Given the description of an element on the screen output the (x, y) to click on. 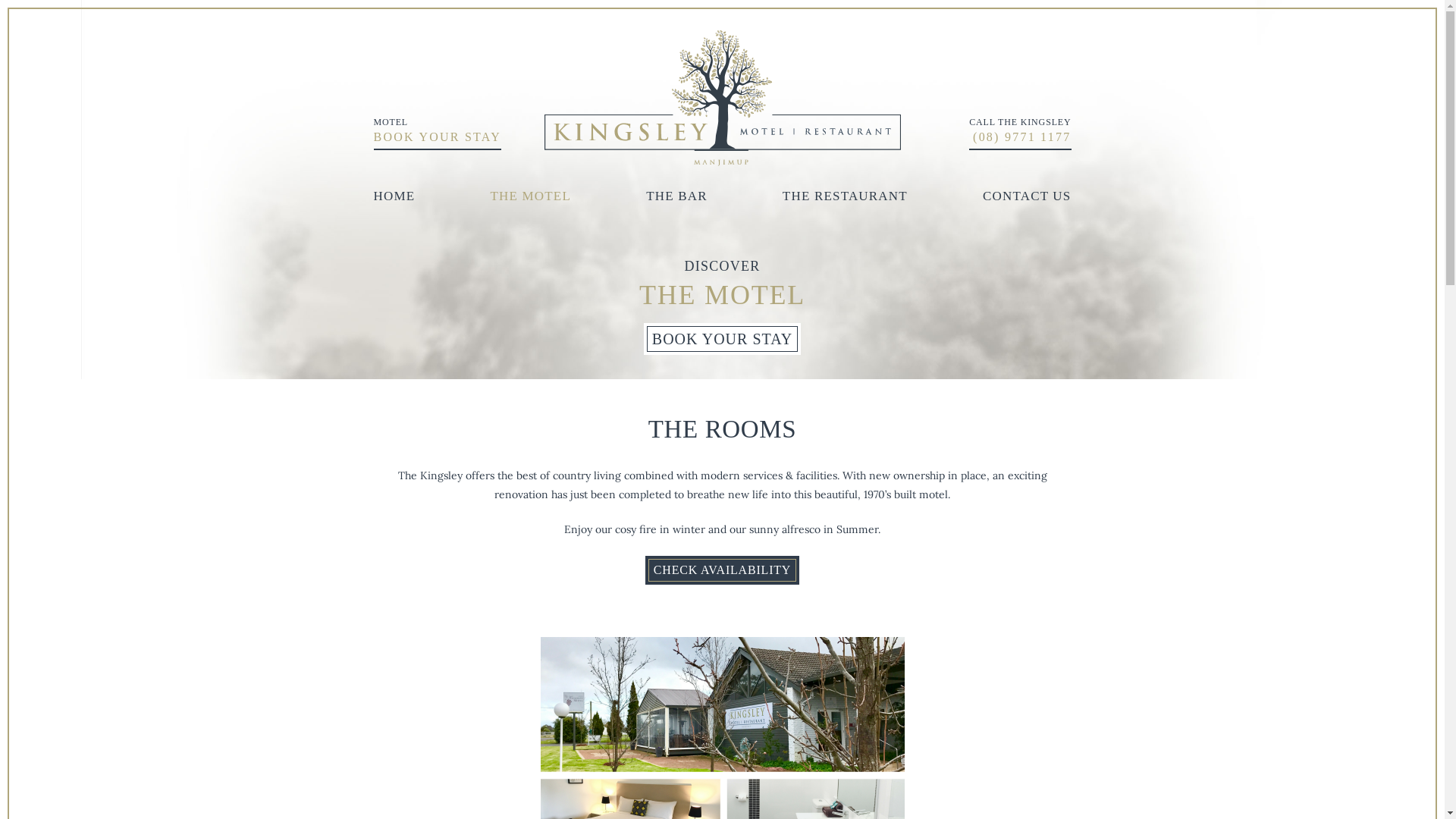
CALL THE KINGSLEY
(08) 9771 1177 Element type: text (1019, 132)
Kingsley Motel home Element type: text (722, 98)
THE RESTAURANT Element type: text (844, 195)
BOOK YOUR STAY Element type: text (721, 338)
HOME Element type: text (393, 195)
THE MOTEL Element type: text (530, 195)
THE BAR Element type: text (676, 195)
MOTEL
BOOK YOUR STAY Element type: text (436, 132)
CHECK AVAILABILITY Element type: text (722, 569)
CONTACT US Element type: text (1026, 195)
